Given the description of an element on the screen output the (x, y) to click on. 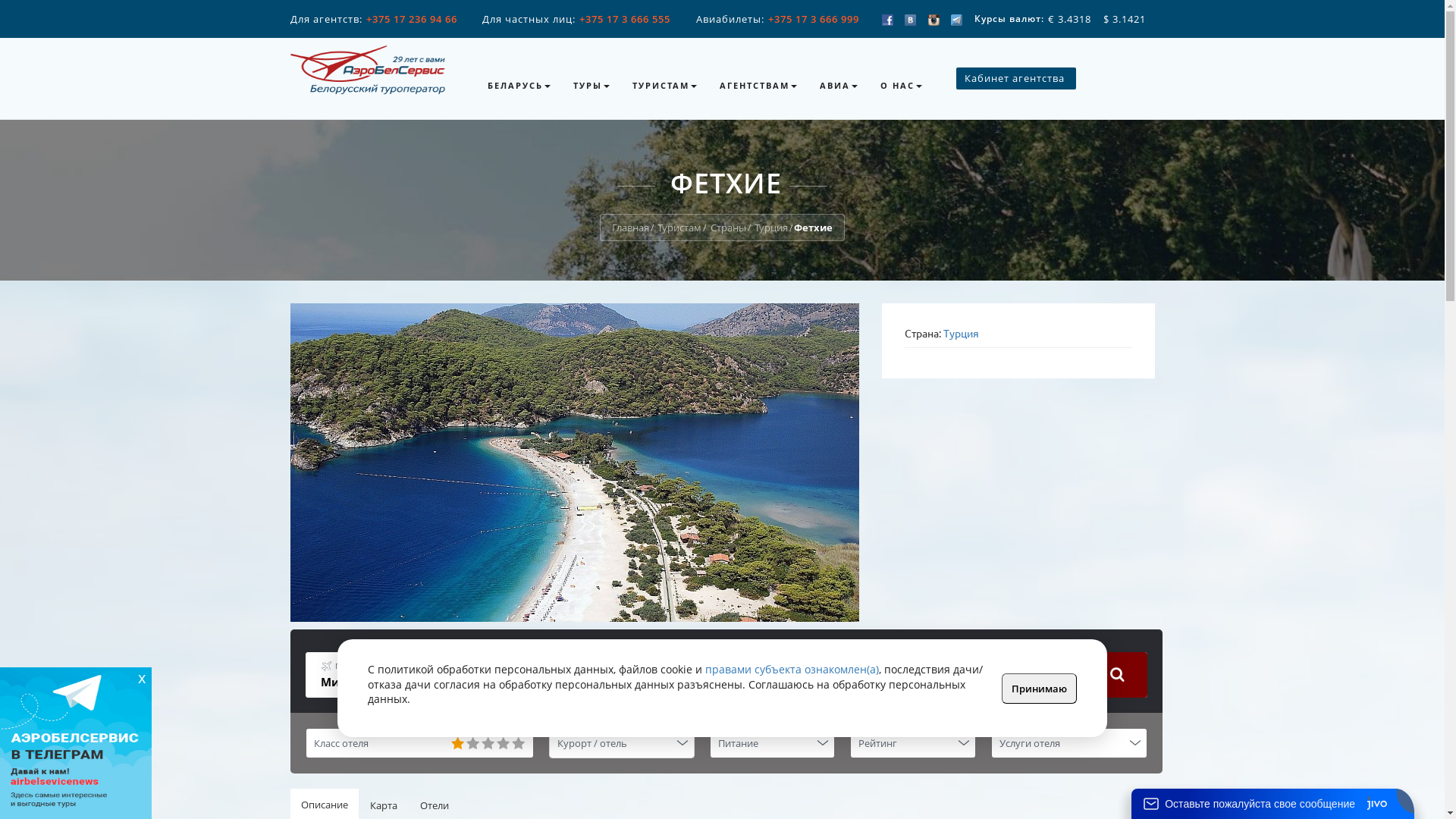
+375 17 3 666 999 Element type: text (812, 18)
+375 17 236 94 66 Element type: text (410, 18)
+375 17 3 666 555 Element type: text (624, 18)
